Given the description of an element on the screen output the (x, y) to click on. 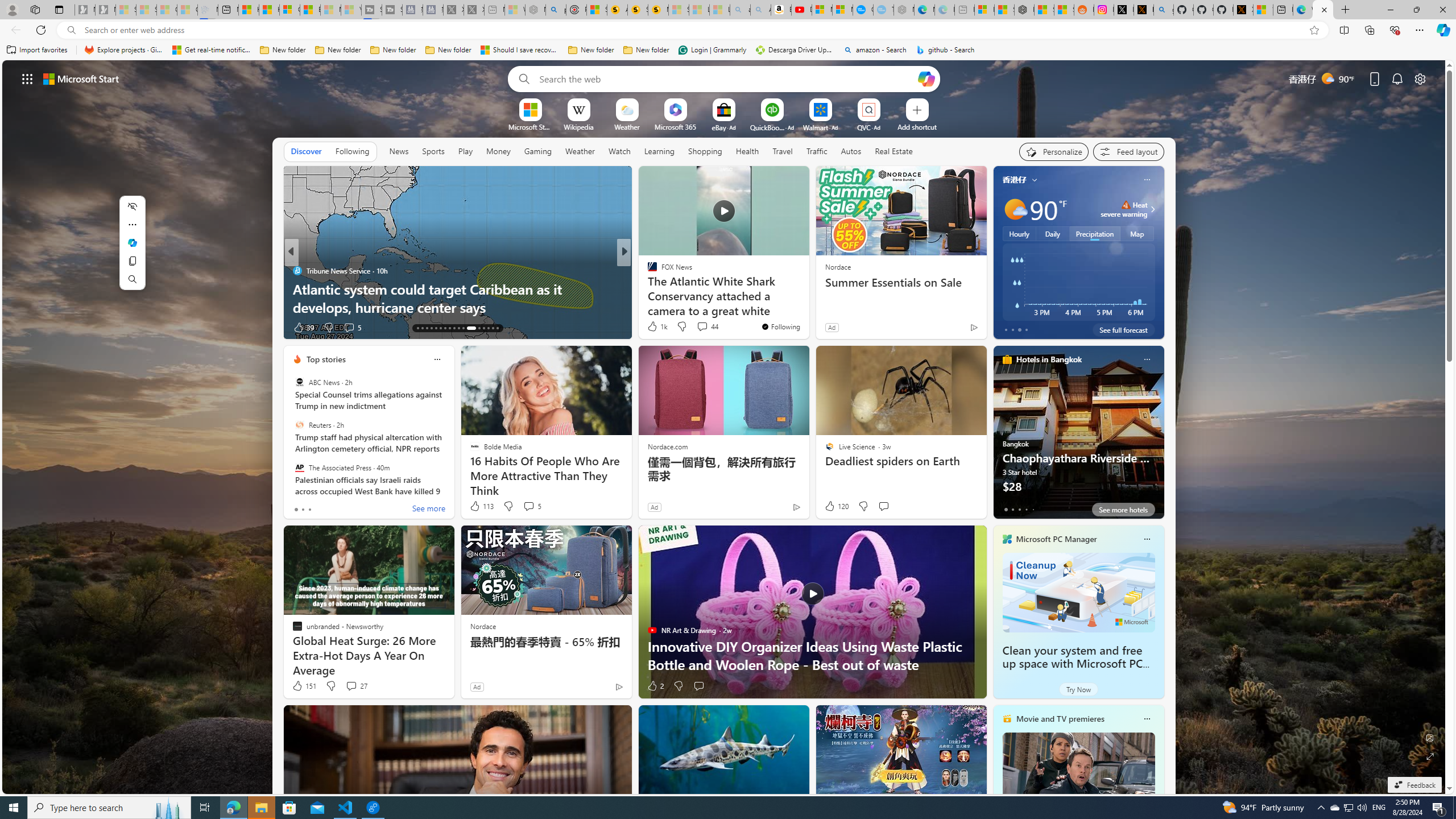
113 Like (480, 505)
Hotels in Bangkok (1048, 359)
Search icon (70, 29)
Mini menu on text selection (132, 249)
Mostly sunny (1014, 208)
CNBC (296, 270)
Welcome to Microsoft Edge (1302, 9)
